Given the description of an element on the screen output the (x, y) to click on. 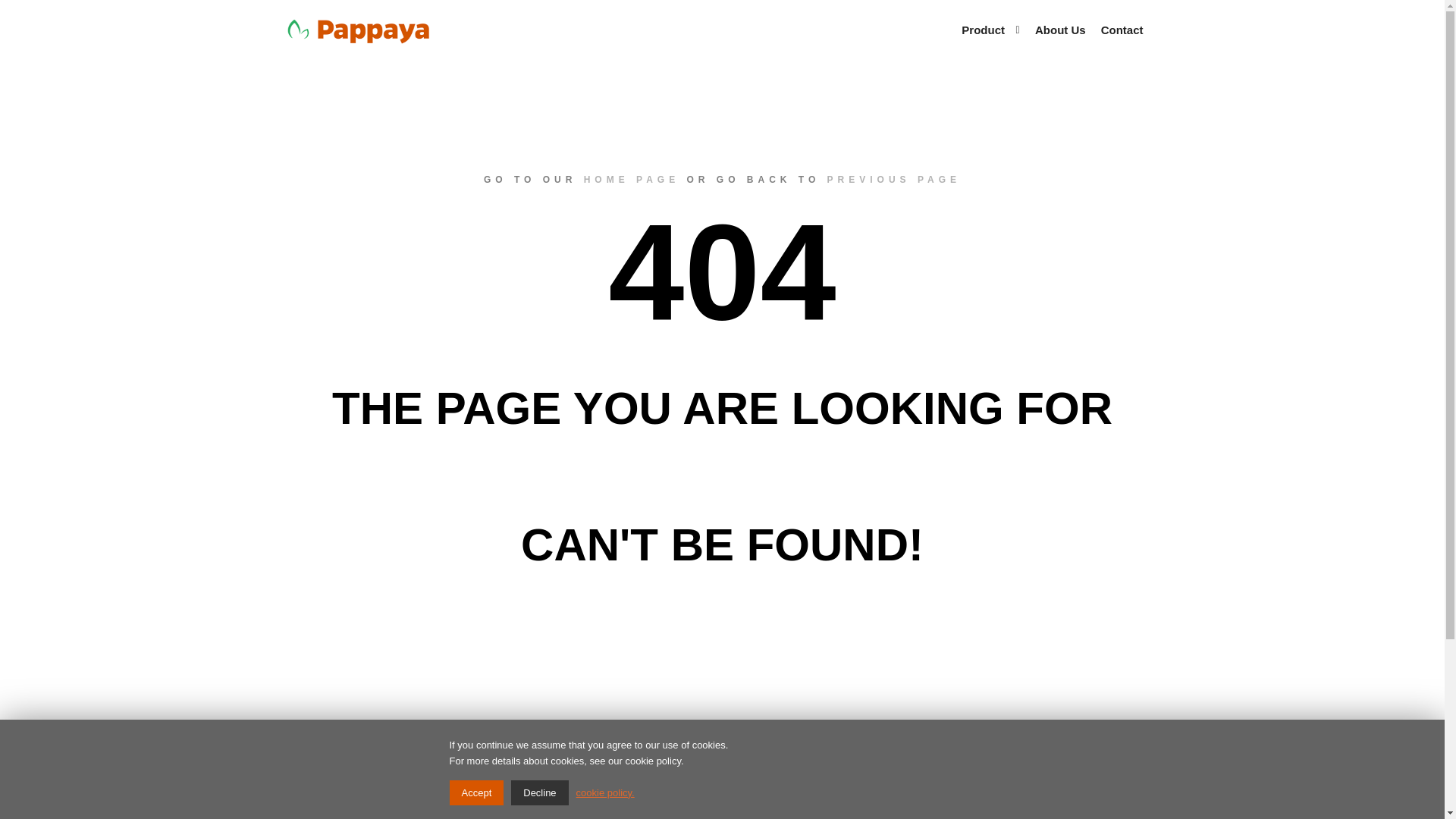
Decline (539, 792)
Product (980, 30)
PREVIOUS PAGE (893, 179)
cookie policy. (605, 792)
Contact (1122, 30)
HOME PAGE (631, 179)
Pappaya Cloud (608, 817)
About Us (1060, 30)
Home (382, 817)
pappaya (357, 30)
Accept (475, 792)
